Given the description of an element on the screen output the (x, y) to click on. 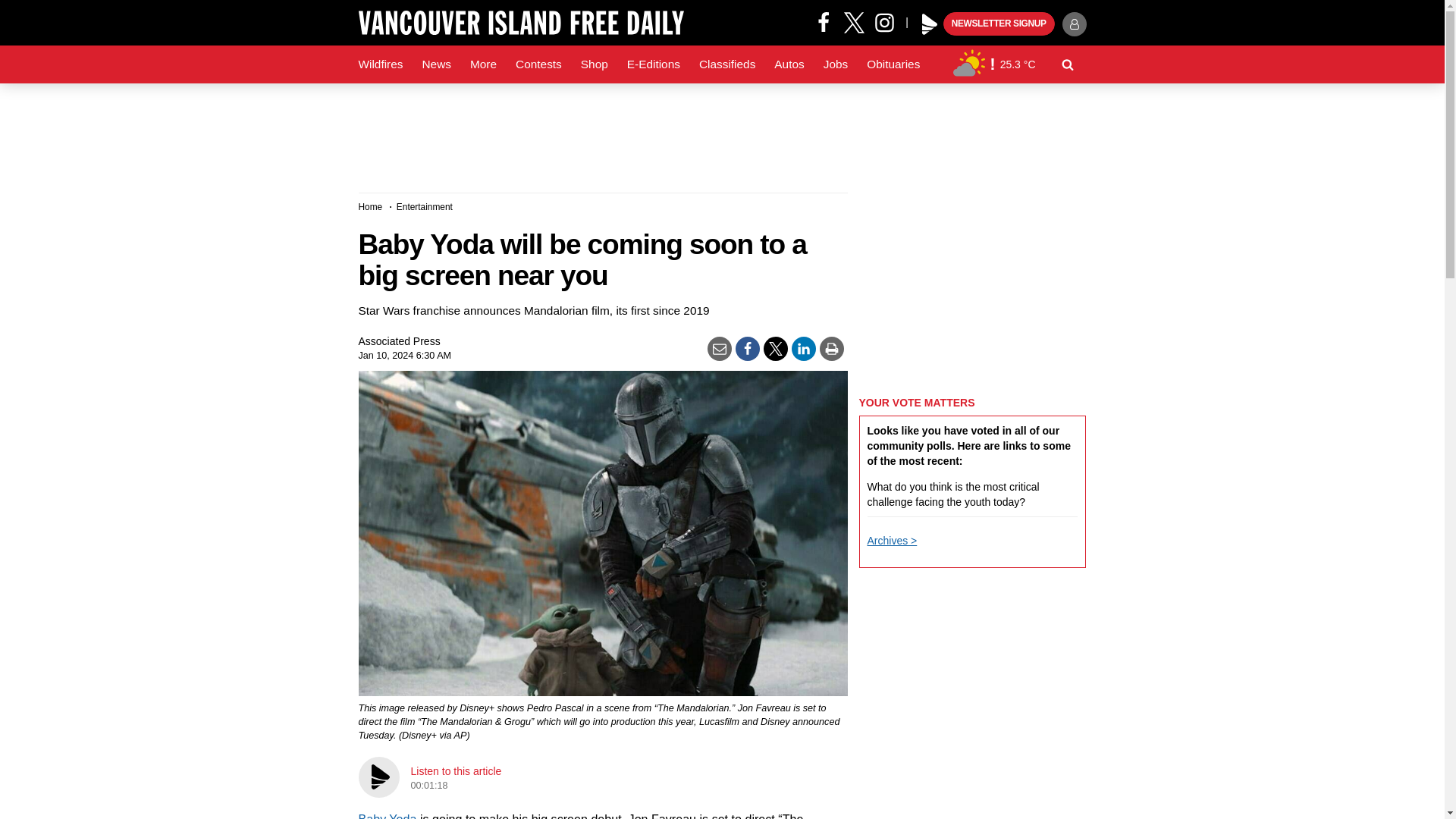
Facebook (823, 21)
Wildfires (380, 64)
Play (929, 24)
Black Press Media (929, 24)
X (853, 21)
News (435, 64)
Instagram (889, 21)
NEWSLETTER SIGNUP (998, 24)
